Given the description of an element on the screen output the (x, y) to click on. 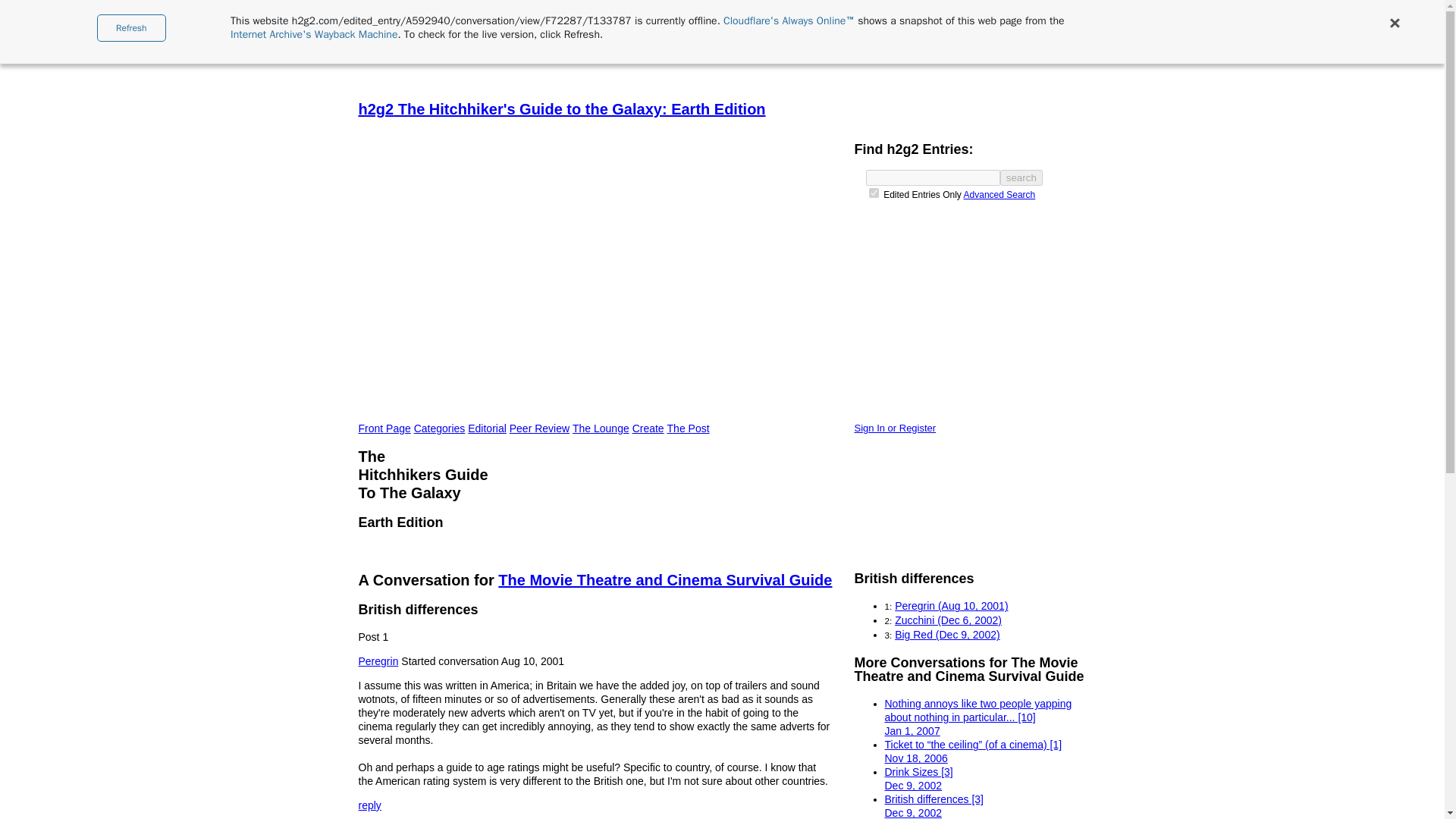
Front Page (384, 428)
Refresh (131, 27)
1 (874, 193)
The Post (688, 428)
Create (647, 428)
Jan 1, 2007 (911, 730)
Categories (439, 428)
search (1021, 177)
Internet Archive's Wayback Machine (313, 33)
Peer Review (539, 428)
The Movie Theatre and Cinema Survival Guide (664, 579)
Advanced Search (999, 194)
h2g2 The Hitchhiker's Guide to the Galaxy: Earth Edition (722, 108)
reply (369, 805)
Peregrin (377, 661)
